Given the description of an element on the screen output the (x, y) to click on. 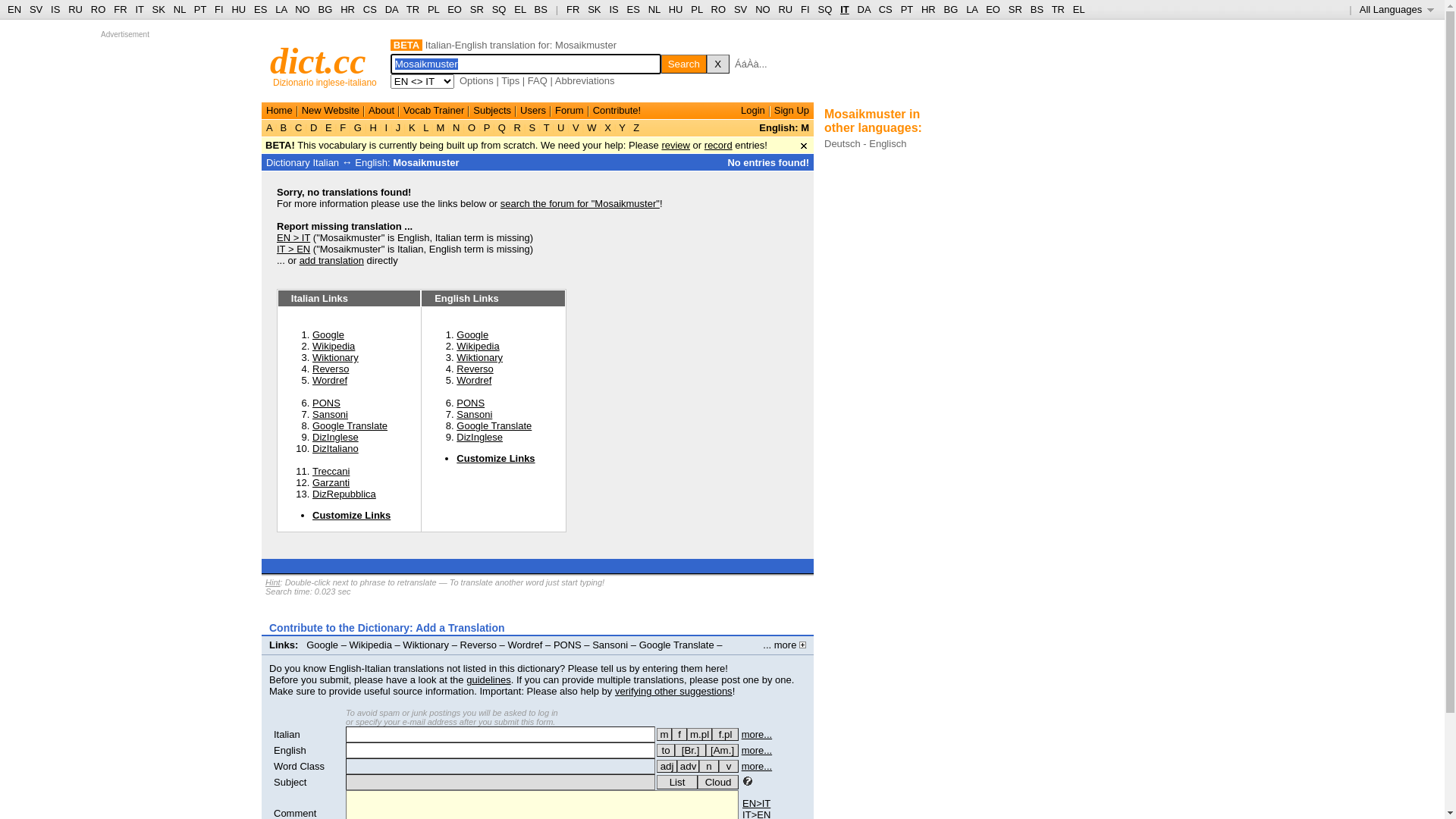
FI Element type: text (804, 9)
verifying other suggestions Element type: text (673, 690)
BS Element type: text (1036, 9)
TR Element type: text (412, 9)
EL Element type: text (519, 9)
B Element type: text (283, 127)
L Element type: text (425, 127)
Wiktionary Element type: text (479, 357)
English: M Element type: text (784, 127)
HU Element type: text (238, 9)
adj Element type: text (666, 765)
PL Element type: text (433, 9)
New Website Element type: text (330, 110)
Reverso Element type: text (478, 644)
Wiktionary Element type: text (335, 357)
Subjects Element type: text (492, 110)
femminile Element type: hover (679, 734)
dict.cc Element type: text (317, 60)
Dictionary Element type: text (288, 162)
more... Element type: text (756, 750)
maschile plurale Element type: hover (699, 734)
Wikipedia Element type: text (477, 345)
I Element type: text (386, 127)
Wikipedia Element type: text (370, 644)
Garzanti Element type: text (330, 482)
Vocab Trainer Element type: text (433, 110)
EL Element type: text (1079, 9)
Mosaikmuster Element type: text (425, 162)
M Element type: text (440, 127)
Customize Links Element type: text (365, 656)
NL Element type: text (654, 9)
Options Element type: text (476, 80)
Contribute to the Dictionary: Add a Translation Element type: text (387, 627)
X Element type: text (608, 127)
J Element type: text (397, 127)
Reverso Element type: text (474, 368)
Treccani Element type: text (330, 470)
DA Element type: text (863, 9)
Sansoni Element type: text (330, 414)
DizRepubblica Element type: text (344, 493)
Login Element type: text (752, 110)
Wordref Element type: text (473, 379)
DizInglese Element type: text (335, 436)
Contribute! Element type: text (617, 110)
Abbreviations Element type: text (585, 80)
f.pl Element type: text (725, 734)
Google Element type: text (328, 334)
(esp.) British English Element type: hover (690, 749)
BS Element type: text (540, 9)
LA Element type: text (280, 9)
FR Element type: text (572, 9)
Search Element type: text (683, 63)
(esp.) American English Element type: hover (722, 749)
more... Element type: text (756, 734)
adv Element type: text (688, 765)
About Element type: text (381, 110)
m Element type: text (663, 734)
DA Element type: text (391, 9)
EN Element type: text (14, 9)
IT Element type: text (138, 9)
[Br.] Element type: text (690, 749)
NL Element type: text (179, 9)
Wordref Element type: text (524, 644)
C Element type: text (297, 127)
Y Element type: text (621, 127)
EO Element type: text (992, 9)
W Element type: text (591, 127)
PT Element type: text (906, 9)
Wiktionary Element type: text (425, 644)
maschile Element type: hover (663, 734)
All Languages  Element type: text (1396, 9)
EN > IT Element type: text (293, 237)
CS Element type: text (369, 9)
Google Element type: text (472, 334)
TR Element type: text (1057, 9)
Hint Element type: text (272, 581)
Customize Links Element type: text (351, 514)
PONS Element type: text (326, 402)
IS Element type: text (54, 9)
RU Element type: text (785, 9)
NO Element type: text (302, 9)
Sign Up Element type: text (791, 110)
T Element type: text (546, 127)
SQ Element type: text (499, 9)
m.pl Element type: text (699, 734)
Wikipedia Element type: text (333, 345)
review Element type: text (675, 144)
Tips Element type: text (510, 80)
Sansoni Element type: text (474, 414)
Deutsch - Englisch Element type: text (865, 143)
Forum Element type: text (569, 110)
RO Element type: text (98, 9)
EN>IT Element type: text (756, 803)
Users Element type: text (533, 110)
HR Element type: text (347, 9)
O Element type: text (470, 127)
Italian Element type: text (286, 734)
K Element type: text (411, 127)
record Element type: text (718, 144)
more... Element type: text (756, 765)
PL Element type: text (696, 9)
DizItaliano Element type: text (335, 448)
FI Element type: text (218, 9)
search the forum for "Mosaikmuster" Element type: text (579, 203)
E Element type: text (328, 127)
SV Element type: text (740, 9)
SK Element type: text (593, 9)
H Element type: text (373, 127)
DizInglese Element type: text (295, 656)
List Element type: text (676, 782)
IT > EN Element type: text (293, 248)
N Element type: text (455, 127)
DizInglese Element type: text (479, 436)
G Element type: text (357, 127)
to Element type: text (665, 749)
EO Element type: text (454, 9)
PONS Element type: text (470, 402)
R Element type: text (517, 127)
for verbs Element type: hover (665, 749)
v Element type: text (728, 765)
Home Element type: text (279, 110)
guidelines Element type: text (488, 679)
X Element type: text (717, 63)
SR Element type: text (476, 9)
Google Translate Element type: text (349, 425)
ES Element type: text (260, 9)
A Element type: text (270, 127)
[Am.] Element type: text (722, 749)
Google Translate Element type: text (676, 644)
S Element type: text (532, 127)
n Element type: text (708, 765)
Customize Links Element type: text (495, 458)
FAQ Element type: text (537, 80)
HU Element type: text (675, 9)
FR Element type: text (119, 9)
V Element type: text (575, 127)
... more Element type: text (784, 644)
LA Element type: text (971, 9)
CS Element type: text (885, 9)
IS Element type: text (613, 9)
P Element type: text (486, 127)
ES Element type: text (633, 9)
add translation Element type: text (331, 260)
F Element type: text (342, 127)
PONS Element type: text (567, 644)
Z Element type: text (636, 127)
RO Element type: text (718, 9)
BG Element type: text (325, 9)
Wordref Element type: text (329, 379)
Google Translate Element type: text (493, 425)
NO Element type: text (762, 9)
English Element type: text (289, 750)
D Element type: text (313, 127)
Cloud Element type: text (717, 782)
Q Element type: text (501, 127)
PT Element type: text (200, 9)
RU Element type: text (75, 9)
IT Element type: text (844, 9)
Reverso Element type: text (330, 368)
U Element type: text (560, 127)
BG Element type: text (950, 9)
SV Element type: text (35, 9)
femminile plurale Element type: hover (725, 734)
Google Element type: text (322, 644)
f Element type: text (679, 734)
SR Element type: text (1015, 9)
Sansoni Element type: text (609, 644)
SQ Element type: text (824, 9)
HR Element type: text (928, 9)
SK Element type: text (158, 9)
